Given the description of an element on the screen output the (x, y) to click on. 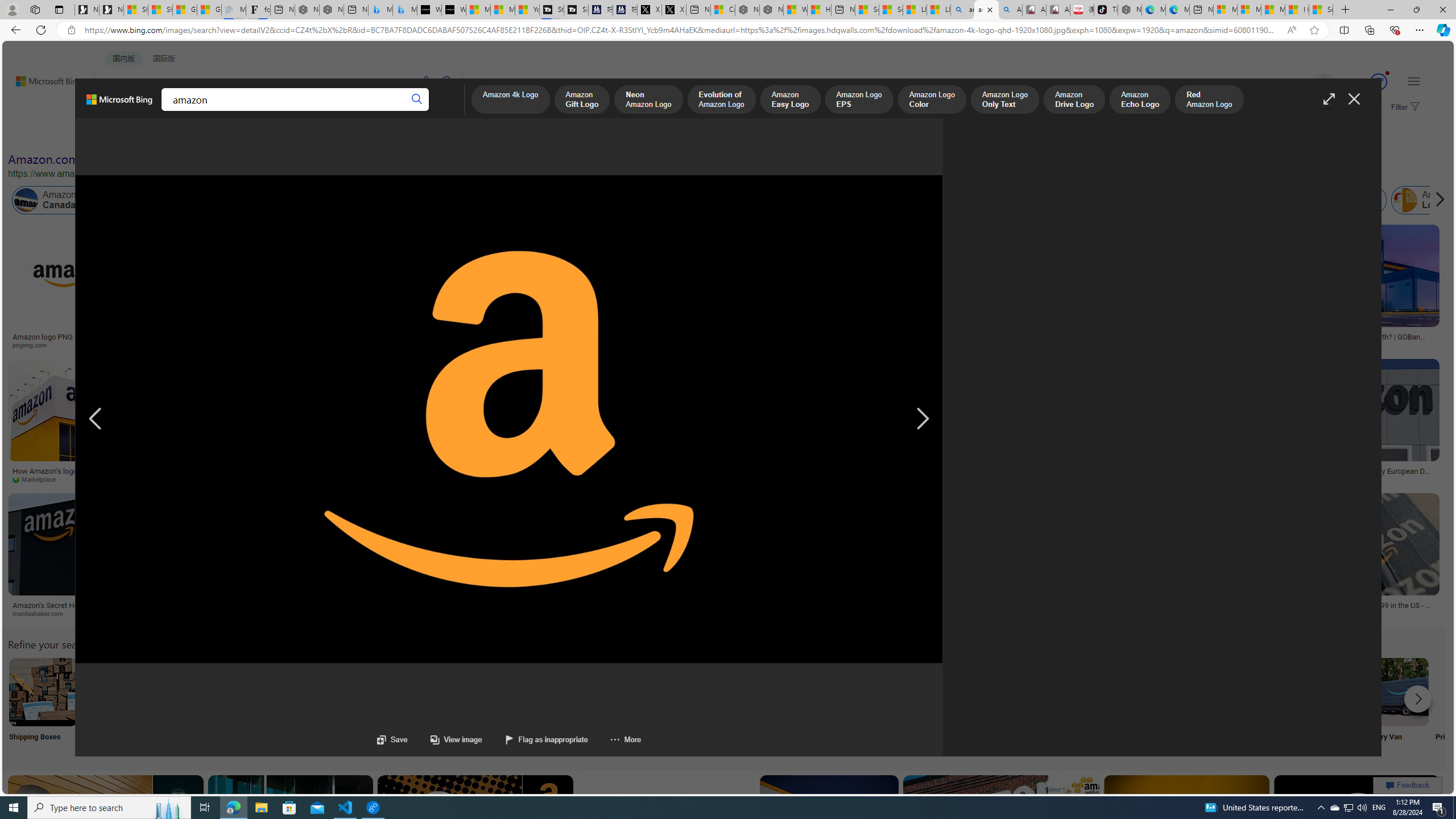
The Verge (1015, 479)
Two Reasons Why Retailers Need to Leverage Amazon (208, 340)
Marketplace (98, 479)
Amazon Prime Membership (753, 200)
Amazon Drive Logo (1073, 100)
logopng.com.br (704, 344)
Amazon Prime Online (172, 199)
People (295, 135)
Amazon Prime Shopping Online (944, 691)
Amazon Sale Items Sale Items (1169, 706)
